Given the description of an element on the screen output the (x, y) to click on. 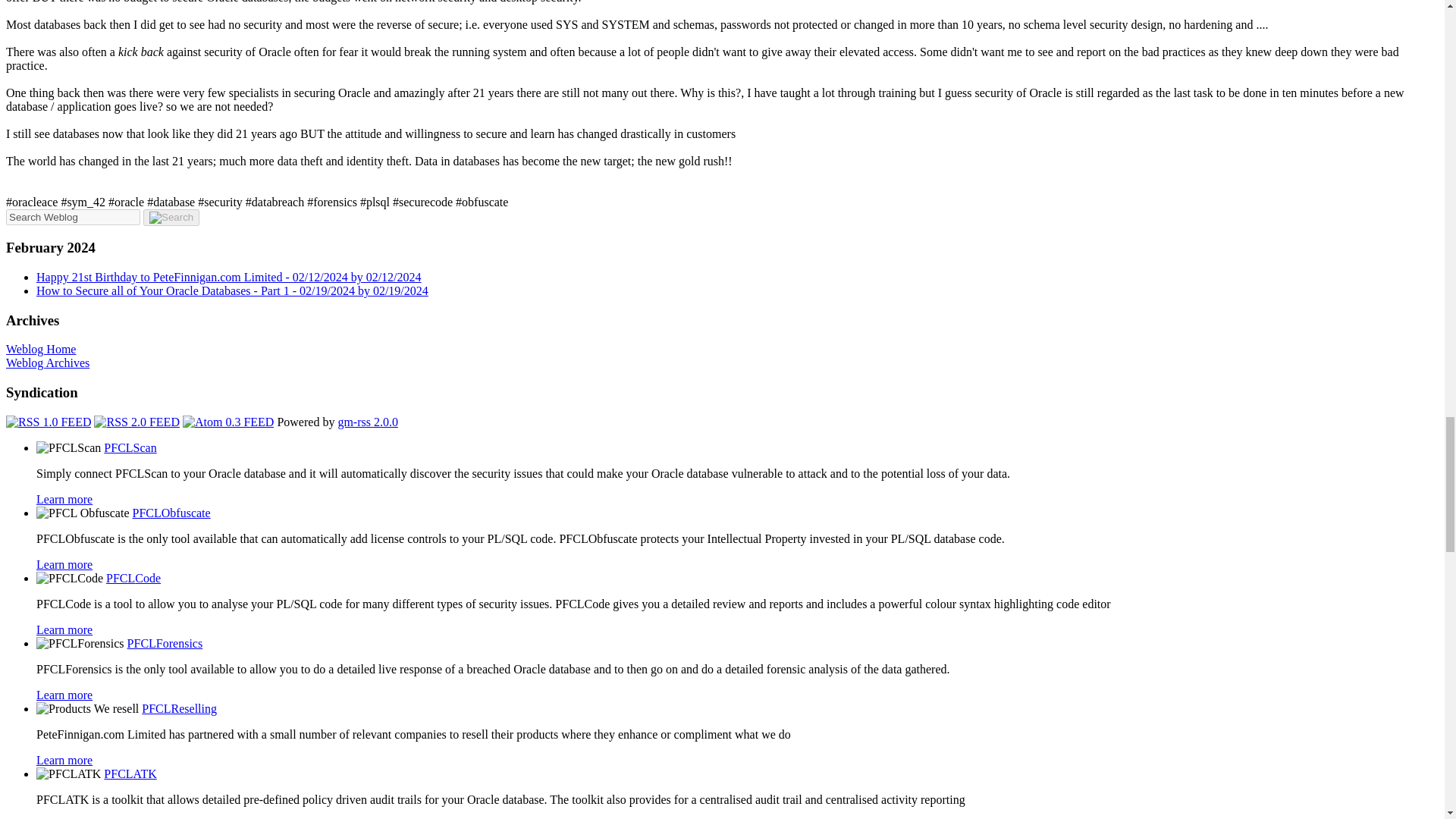
Atom 0.3 FEED (228, 422)
RSS 1.0 FEED (47, 422)
RSS 2.0 FEED (136, 422)
Search Weblog (72, 217)
